Given the description of an element on the screen output the (x, y) to click on. 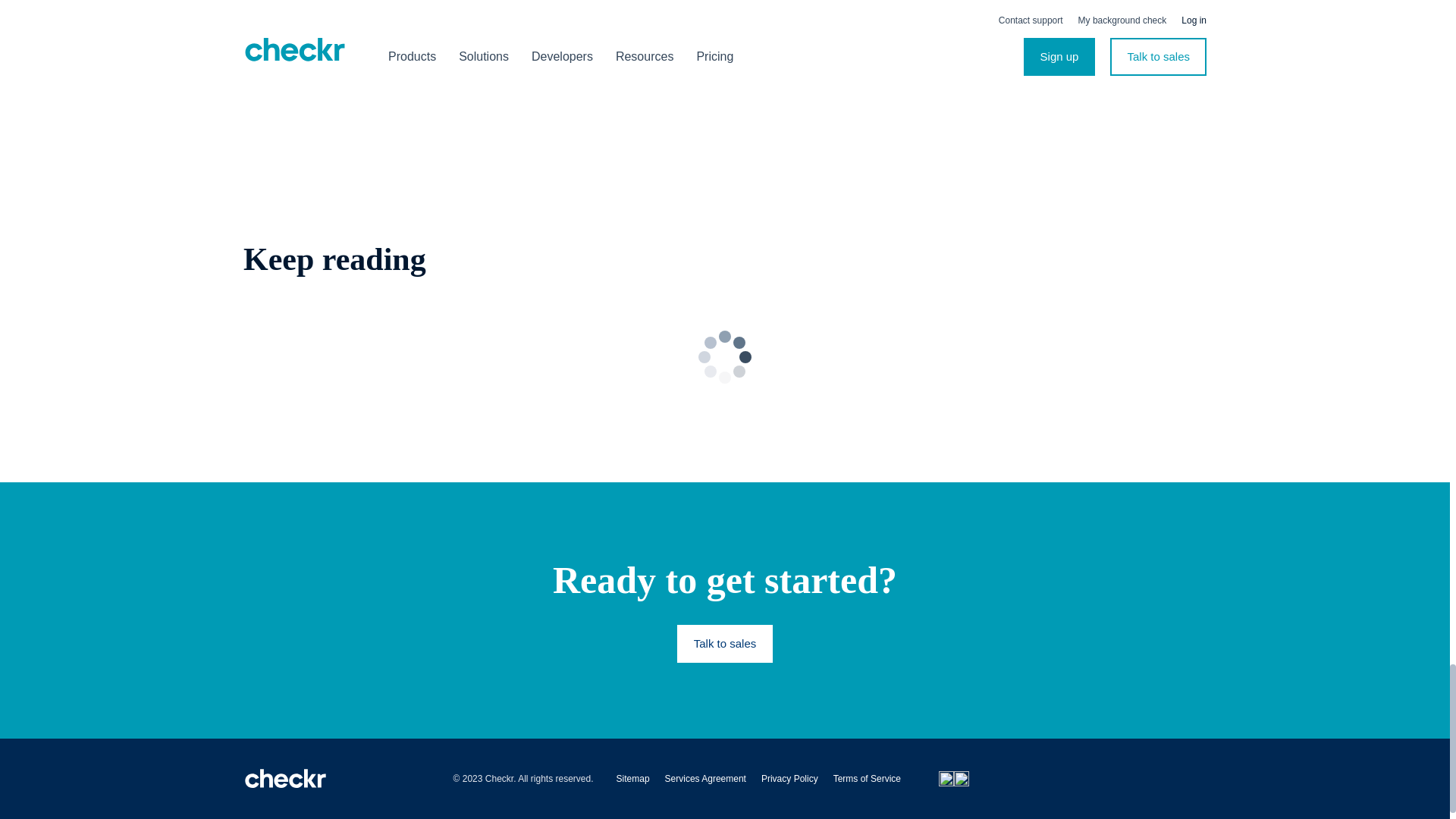
Checkr Home (285, 778)
